Given the description of an element on the screen output the (x, y) to click on. 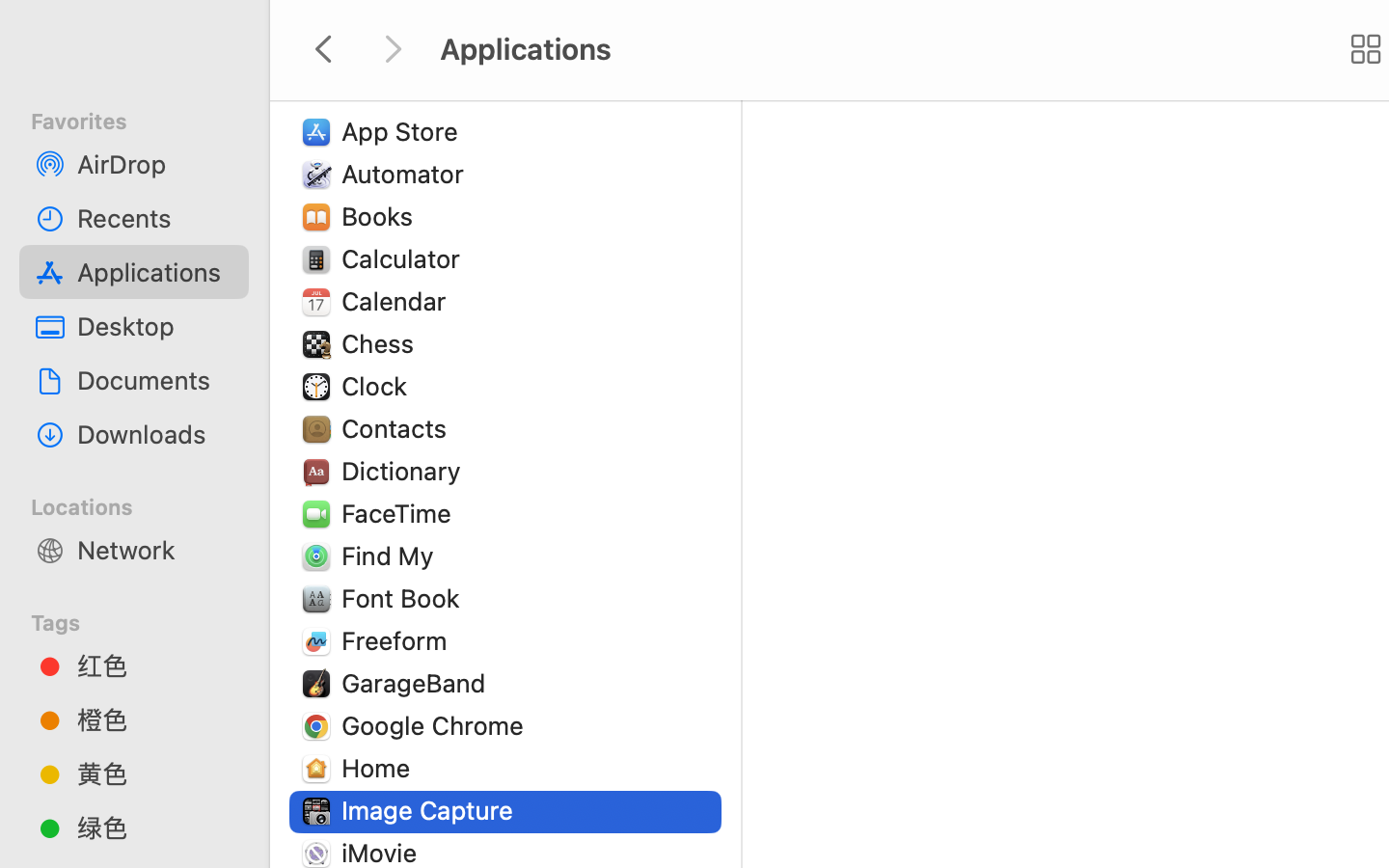
Network Element type: AXStaticText (155, 549)
App Store Element type: AXTextField (403, 130)
